Given the description of an element on the screen output the (x, y) to click on. 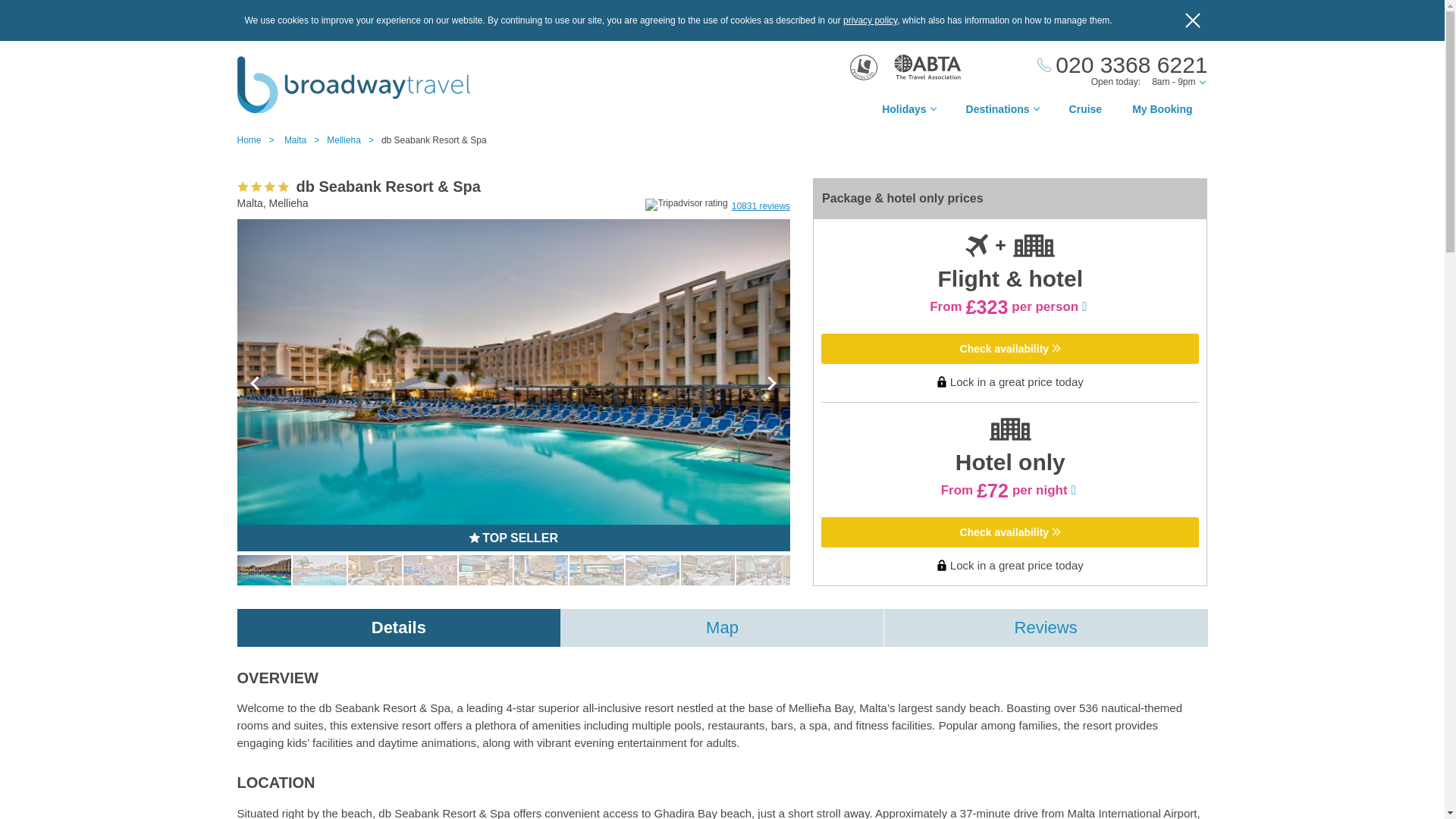
020 3368 6221 (1121, 65)
Destinations (1002, 112)
Holidays (908, 112)
privacy policy (869, 20)
